Given the description of an element on the screen output the (x, y) to click on. 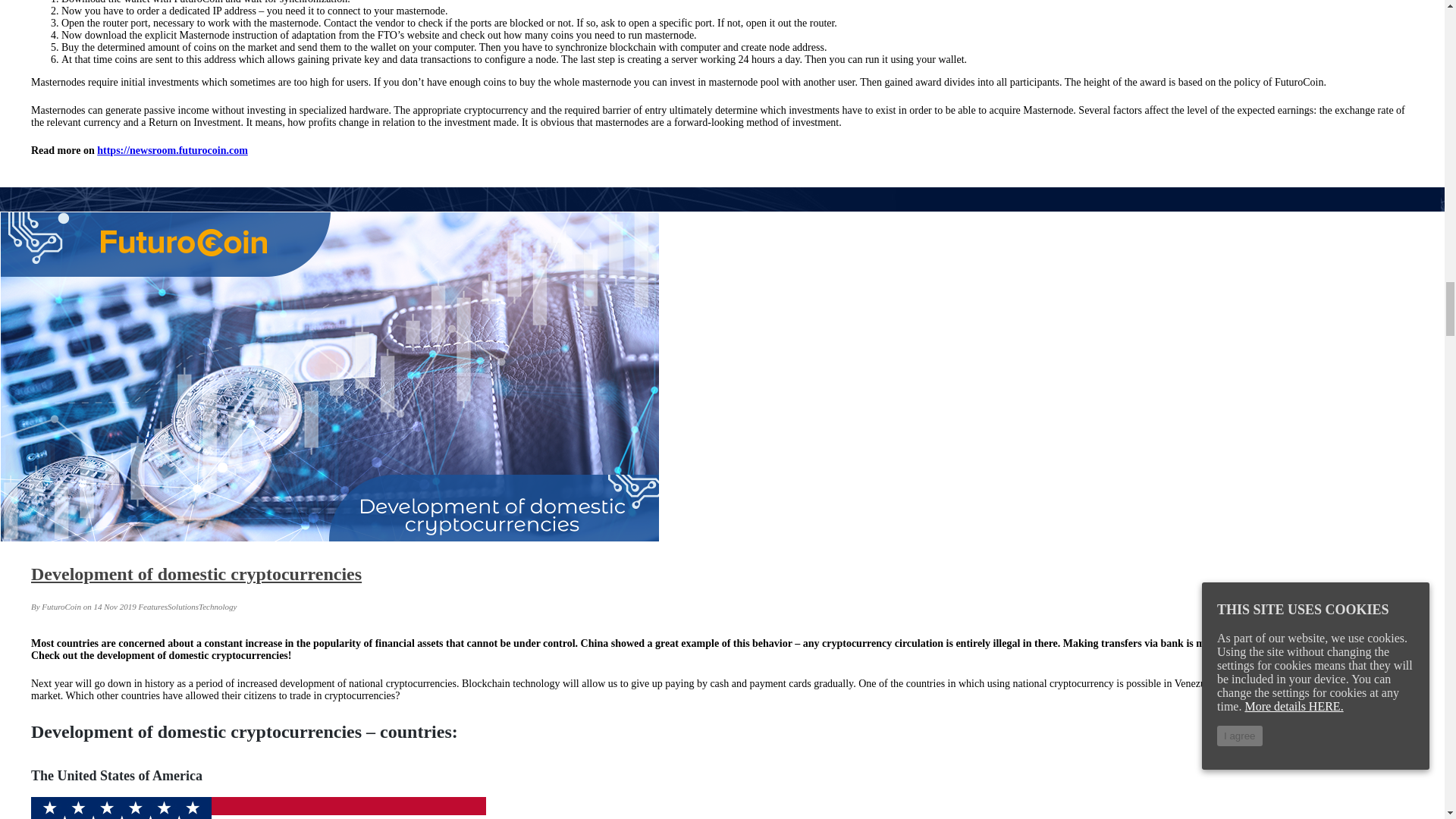
Development of domestic cryptocurrencies (195, 573)
